Given the description of an element on the screen output the (x, y) to click on. 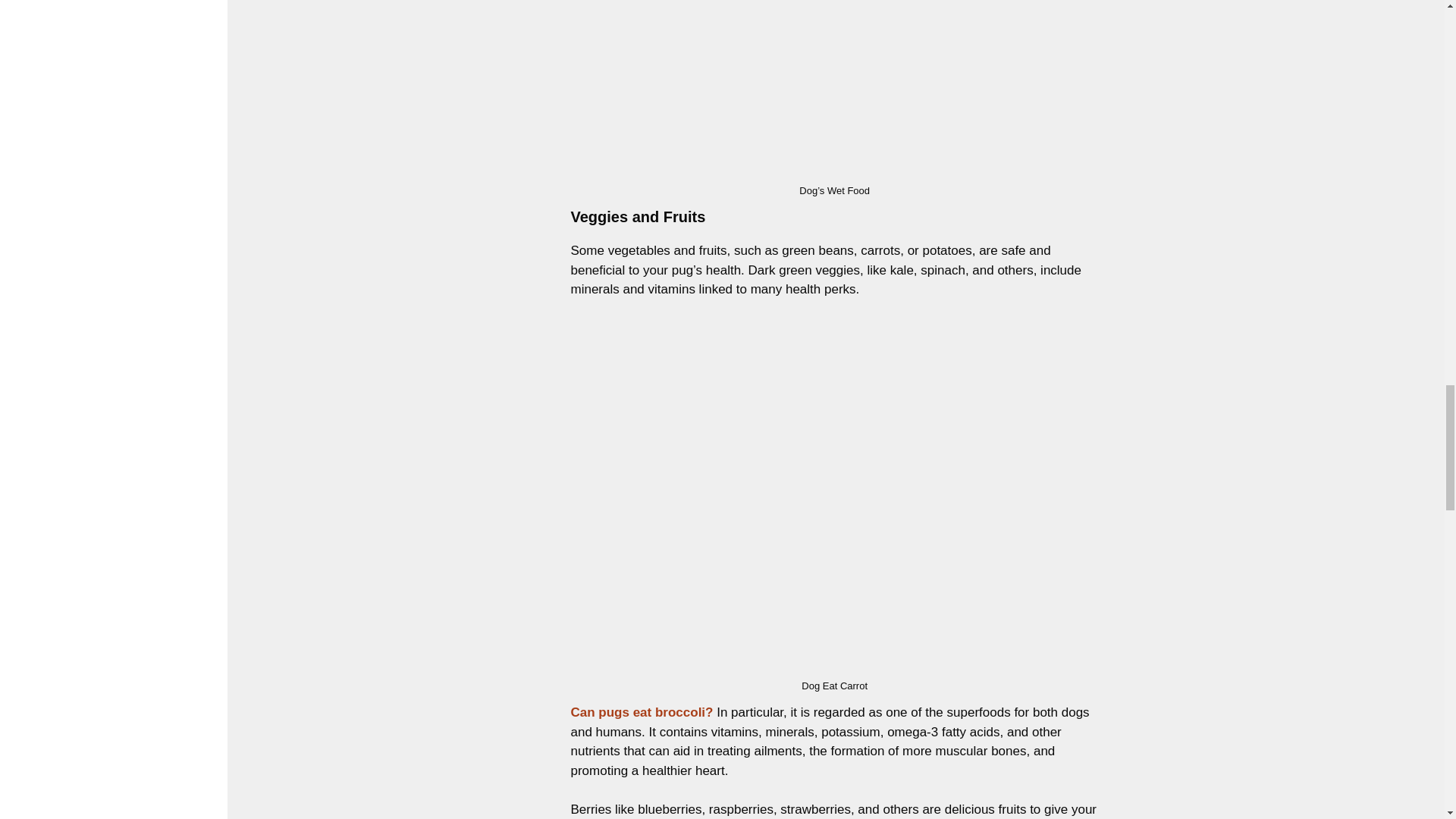
What Food Do Pugs Eat? Useful Feeding Guide For Your Pet 3 (835, 89)
Can pugs eat broccoli? (641, 712)
